Given the description of an element on the screen output the (x, y) to click on. 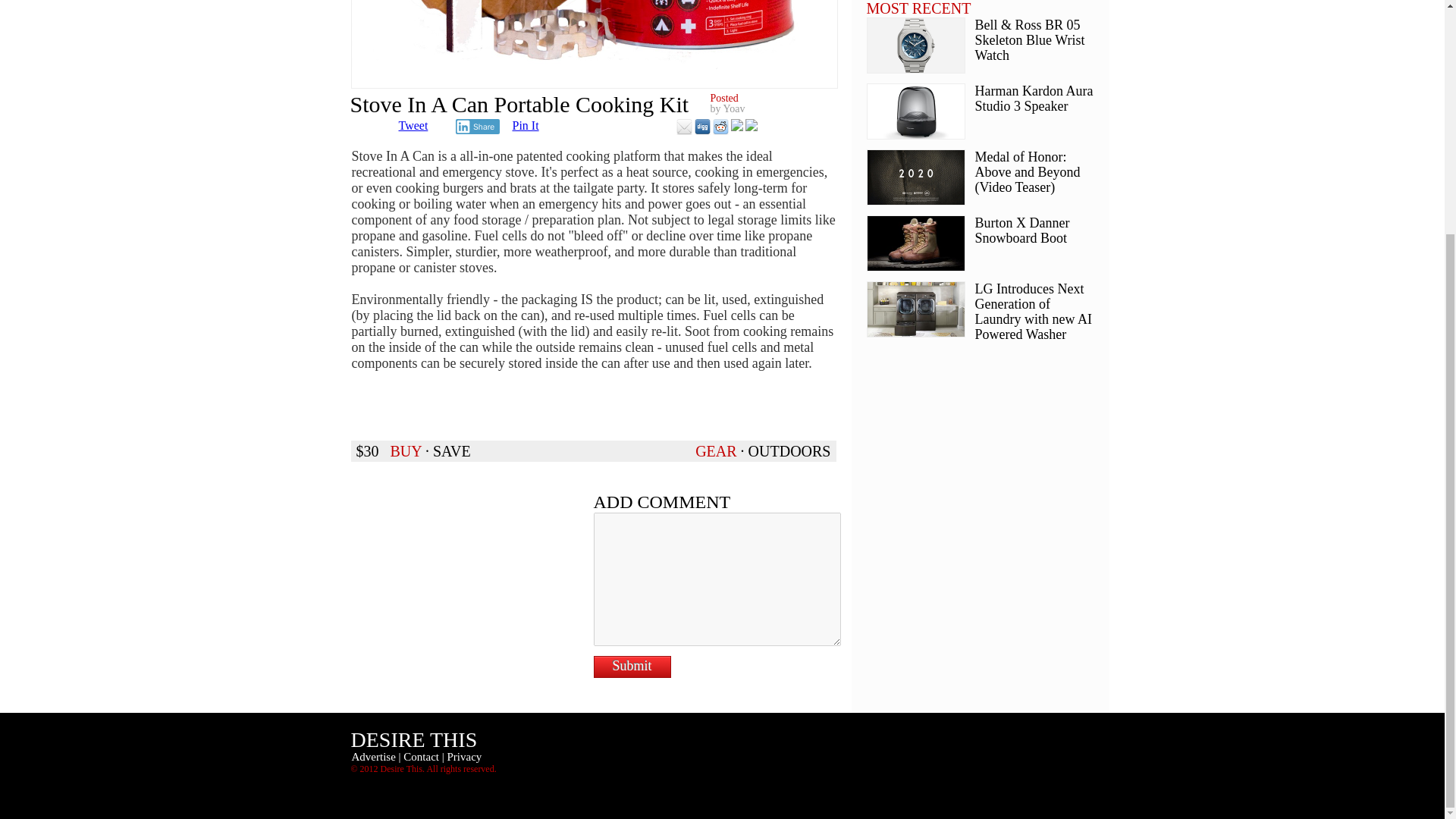
BUY (405, 451)
MOST RECENT (918, 8)
Stove In A Can Portable Cooking Kit (593, 44)
Share (476, 126)
Submit (630, 667)
GEAR (715, 451)
SAVE (451, 451)
Save (451, 451)
Pin It (525, 124)
OUTDOORS (789, 451)
Tweet (413, 124)
Stove In A Can Portable Cooking Kit (405, 451)
Desire This - Gear (715, 451)
Desire This - Gear - Outdoors (789, 451)
